Given the description of an element on the screen output the (x, y) to click on. 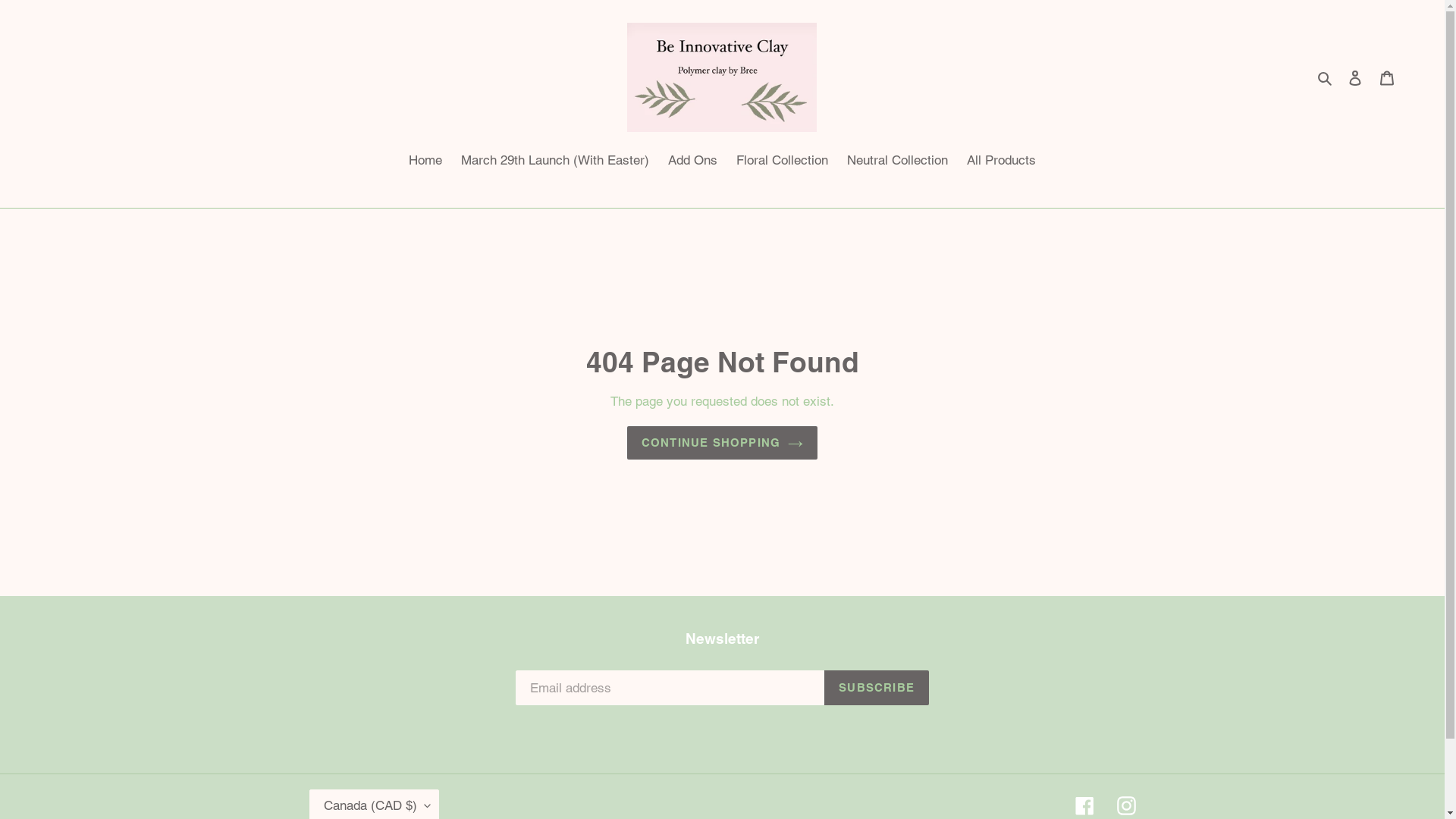
Log in Element type: text (1355, 76)
March 29th Launch (With Easter) Element type: text (554, 161)
Home Element type: text (425, 161)
Add Ons Element type: text (692, 161)
Search Element type: text (1325, 76)
CONTINUE SHOPPING Element type: text (722, 443)
Cart Element type: text (1386, 76)
Facebook Element type: text (1084, 805)
SUBSCRIBE Element type: text (876, 687)
Instagram Element type: text (1125, 805)
Floral Collection Element type: text (781, 161)
All Products Element type: text (1001, 161)
Neutral Collection Element type: text (897, 161)
